Given the description of an element on the screen output the (x, y) to click on. 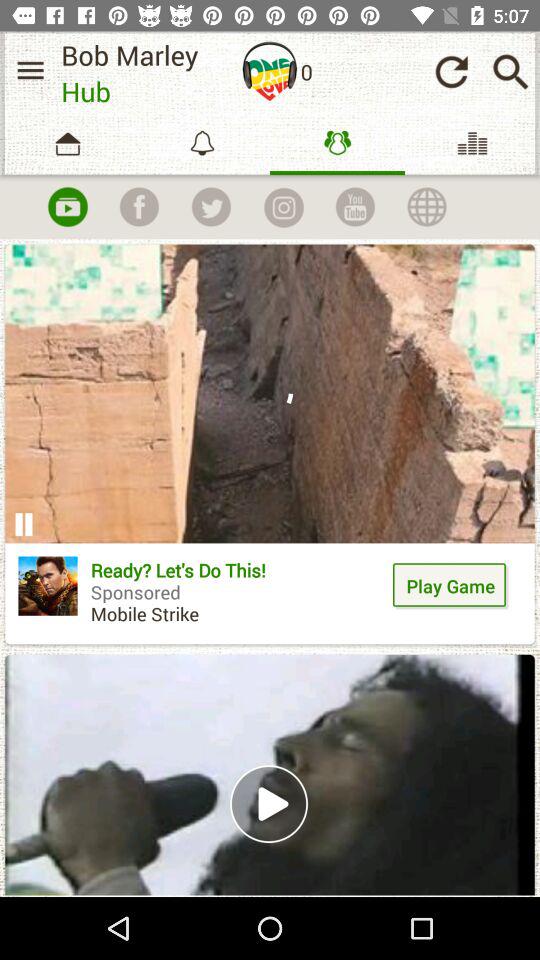
share on facebook (139, 207)
